Given the description of an element on the screen output the (x, y) to click on. 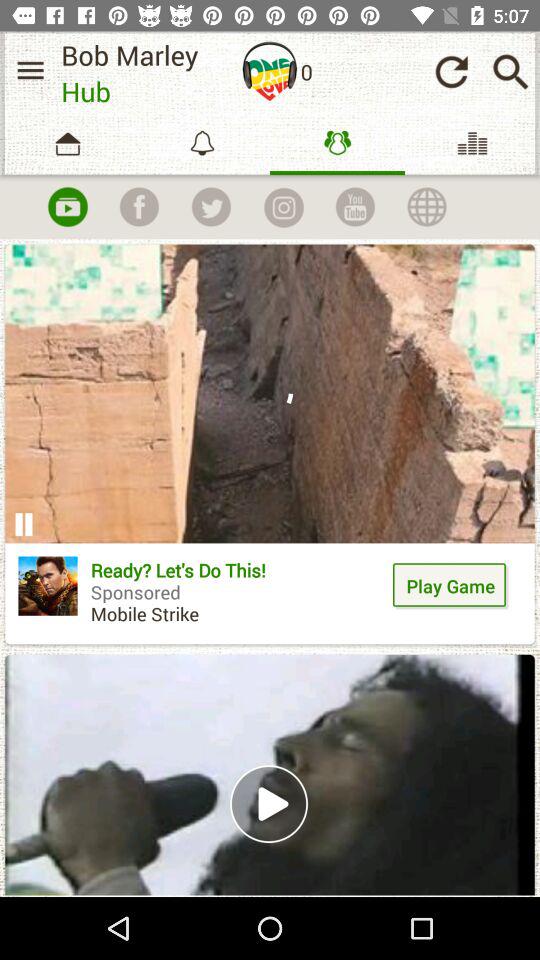
share on facebook (139, 207)
